Given the description of an element on the screen output the (x, y) to click on. 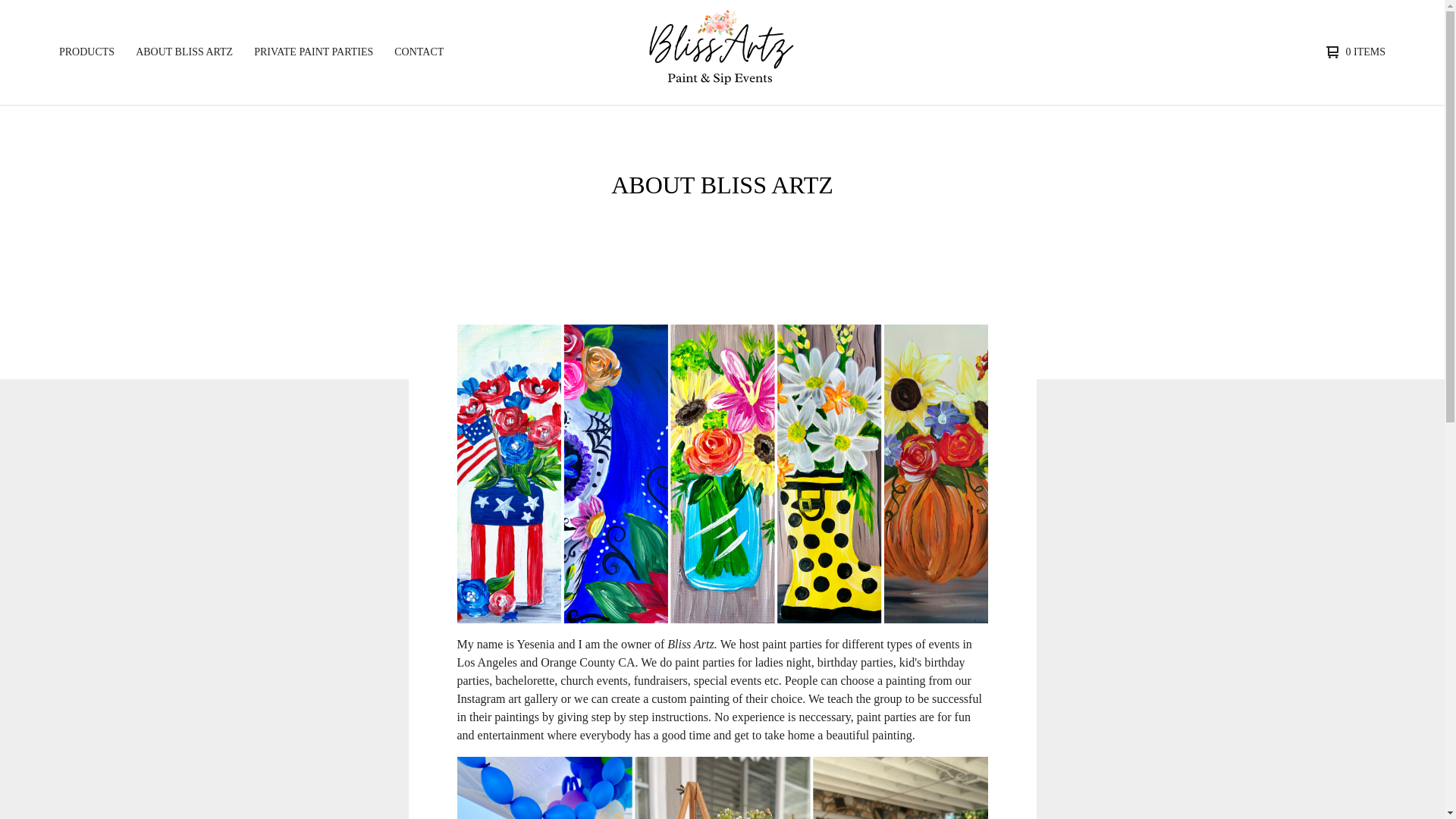
View cart (1352, 52)
View Private Paint Parties (312, 52)
PRODUCTS (87, 52)
PRIVATE PAINT PARTIES (312, 52)
View About Bliss Artz (184, 52)
Bliss Artz (720, 52)
0 ITEMS (1352, 52)
ABOUT BLISS ARTZ (184, 52)
CONTACT (419, 52)
